Given the description of an element on the screen output the (x, y) to click on. 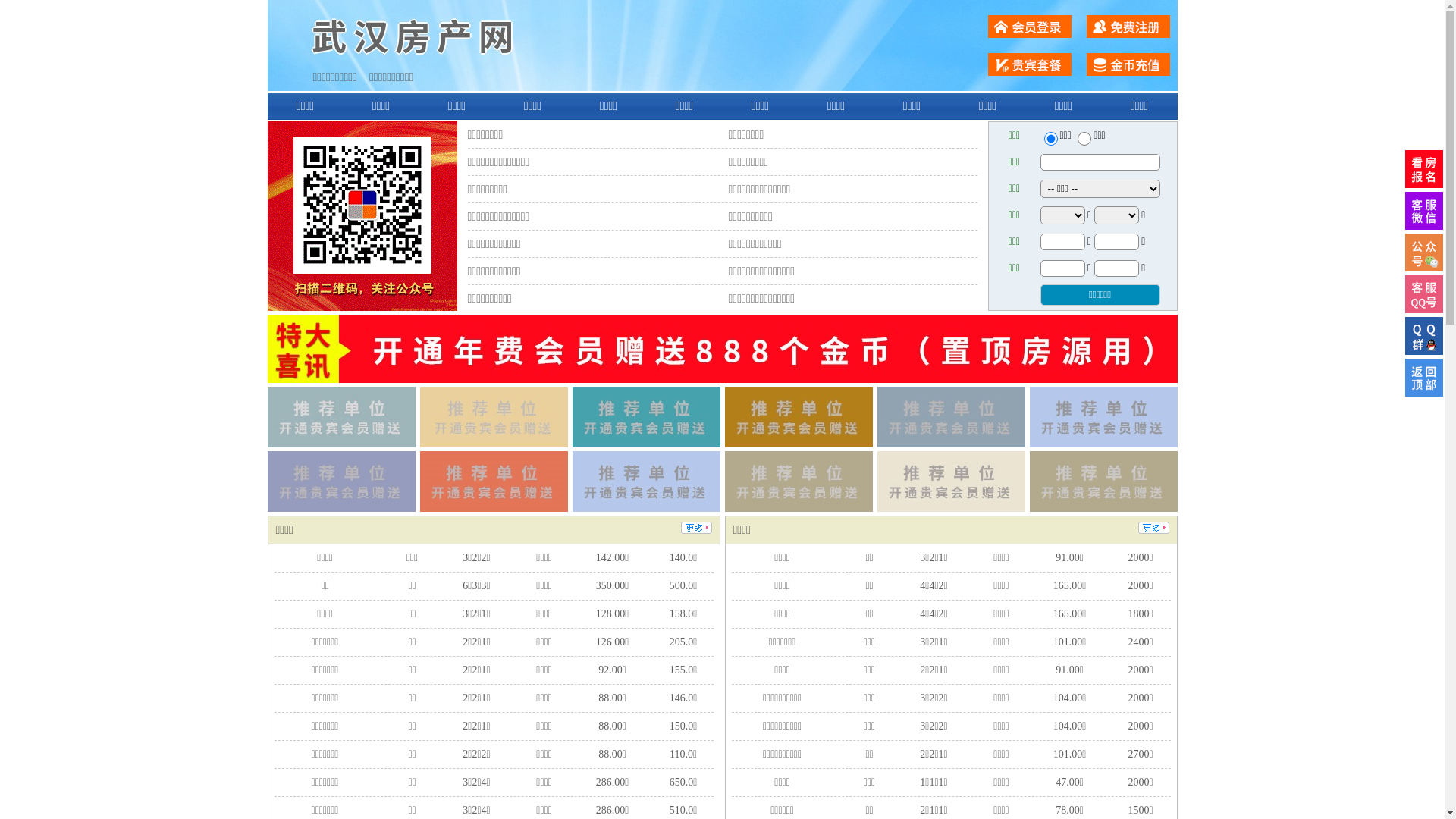
chuzu Element type: text (1084, 138)
ershou Element type: text (1050, 138)
